Given the description of an element on the screen output the (x, y) to click on. 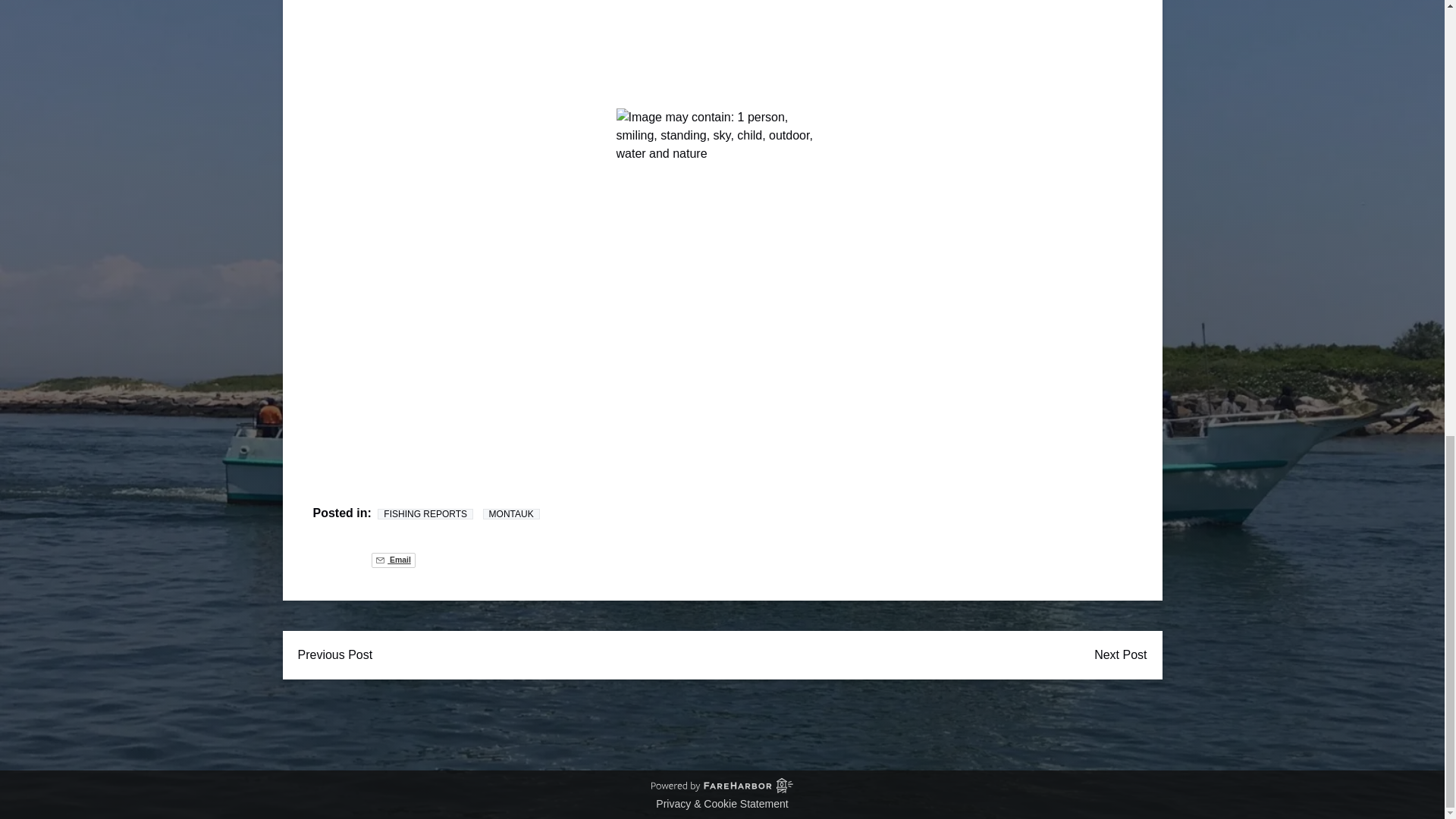
FISHING REPORTS (425, 513)
MONTAUK (511, 513)
Next Post (1119, 654)
Previous Post (334, 654)
Email (392, 560)
